Given the description of an element on the screen output the (x, y) to click on. 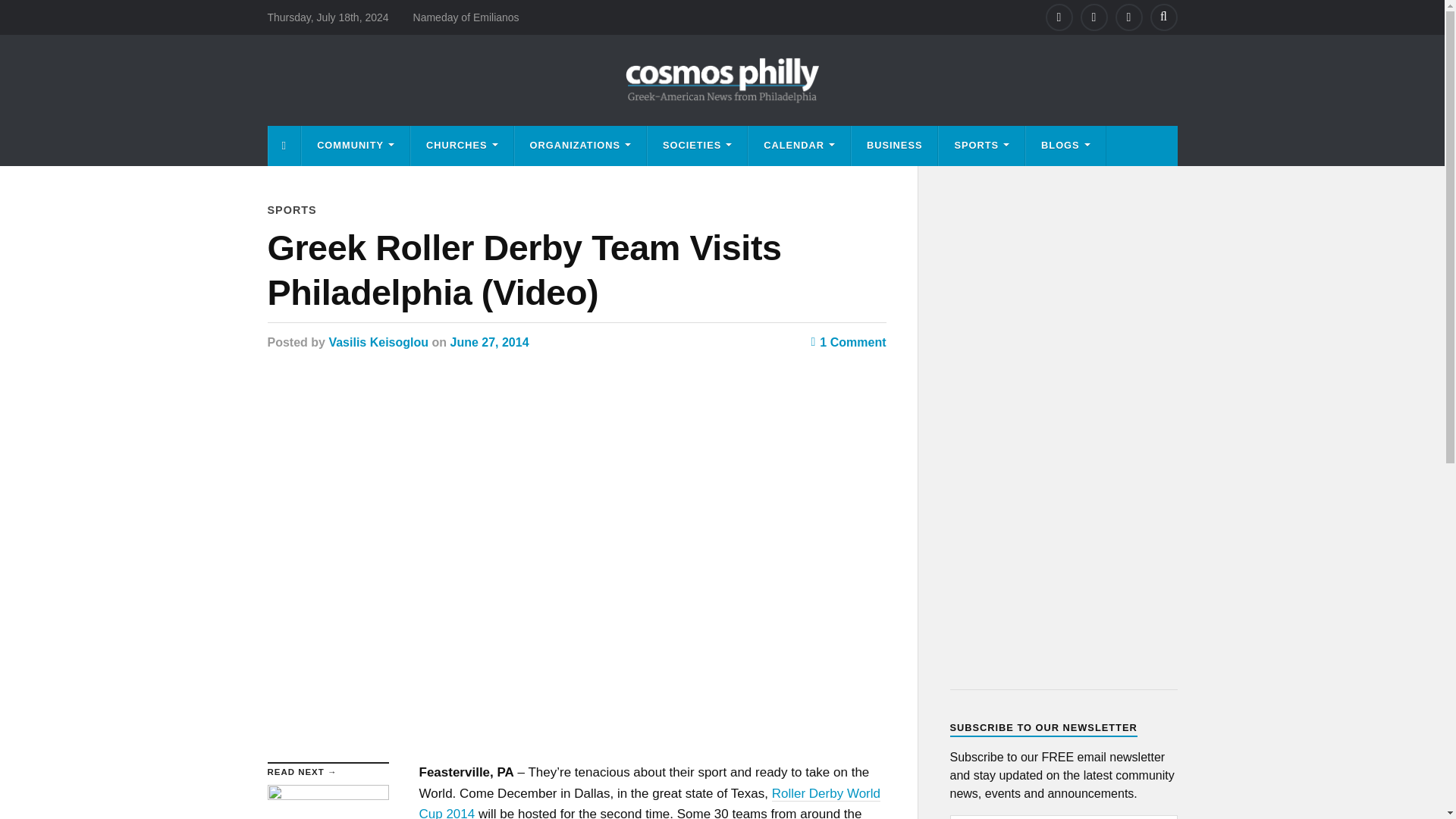
Find us on Facebook (1058, 17)
Subscribe to our YouTube channel (1128, 17)
CHURCHES (461, 146)
Find us on Twitter (1093, 17)
SOCIETIES (696, 146)
ORGANIZATIONS (580, 146)
COSMOS PHILLY - GREEK AMERICAN NEWS FROM PHILADELPHIA (722, 80)
COMMUNITY (355, 146)
